Given the description of an element on the screen output the (x, y) to click on. 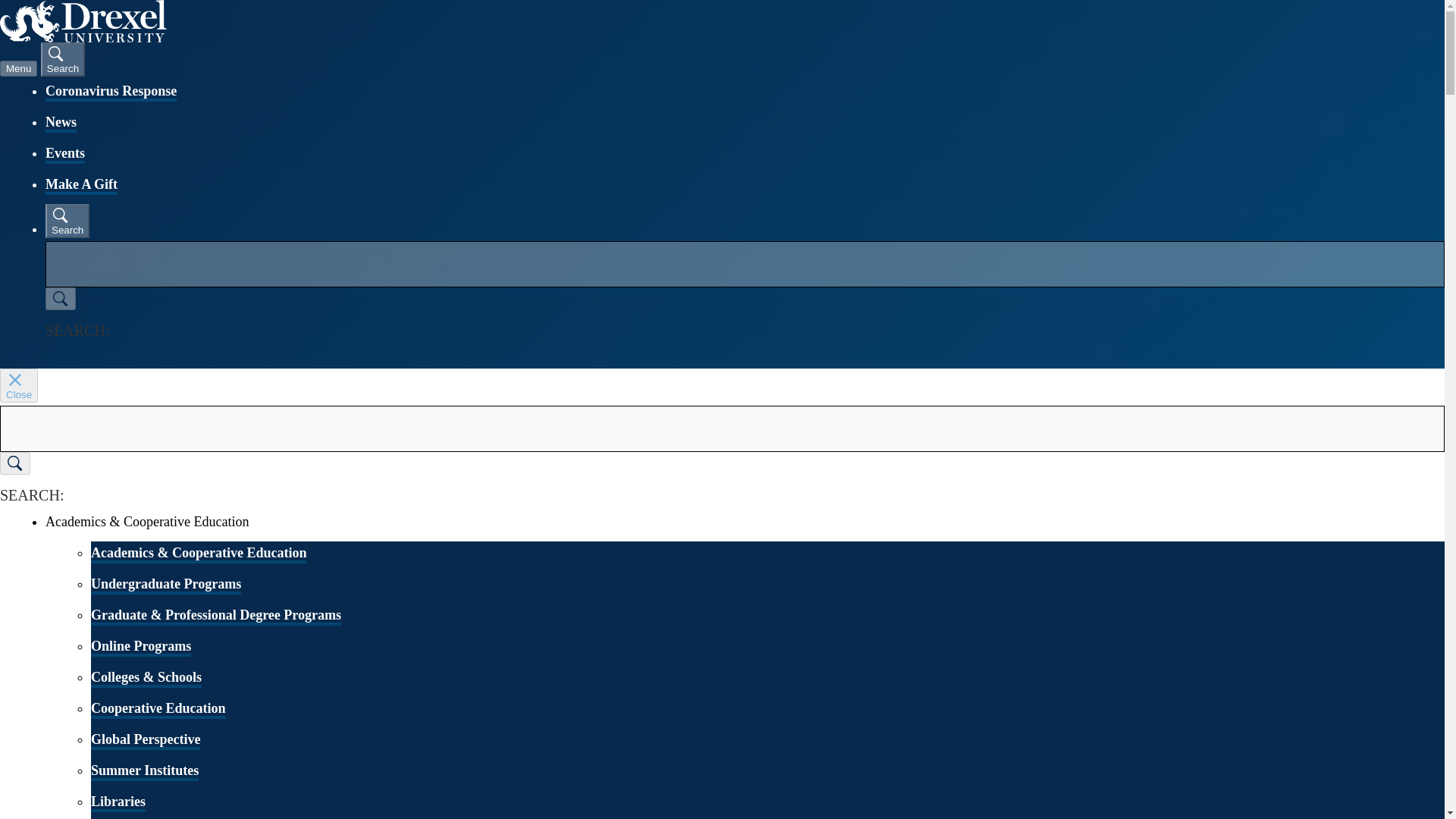
Search (66, 220)
Close (18, 385)
Cooperative Education (157, 710)
Online Programs (140, 647)
Undergraduate Programs (165, 585)
Summer Institutes (144, 771)
Libraries (117, 802)
Make A Gift (81, 185)
Global Perspective (145, 741)
Events (64, 154)
News (61, 123)
Menu (18, 68)
Coronavirus Response (110, 92)
Search (62, 59)
